Given the description of an element on the screen output the (x, y) to click on. 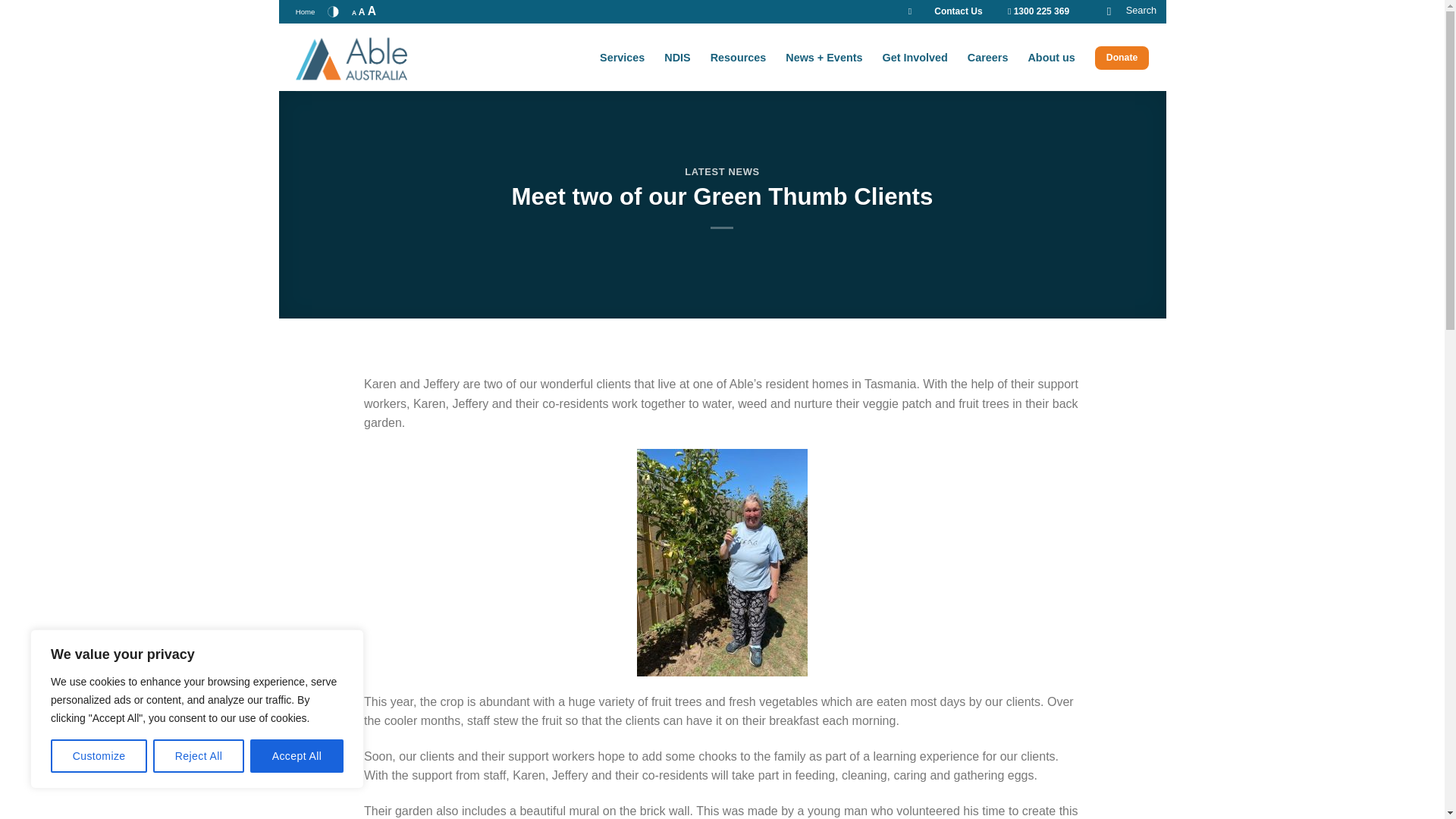
Able Australia - Together we are able (370, 57)
Reject All (198, 756)
Home (305, 11)
Accept All (296, 756)
Customize (98, 756)
Overview (738, 57)
